Given the description of an element on the screen output the (x, y) to click on. 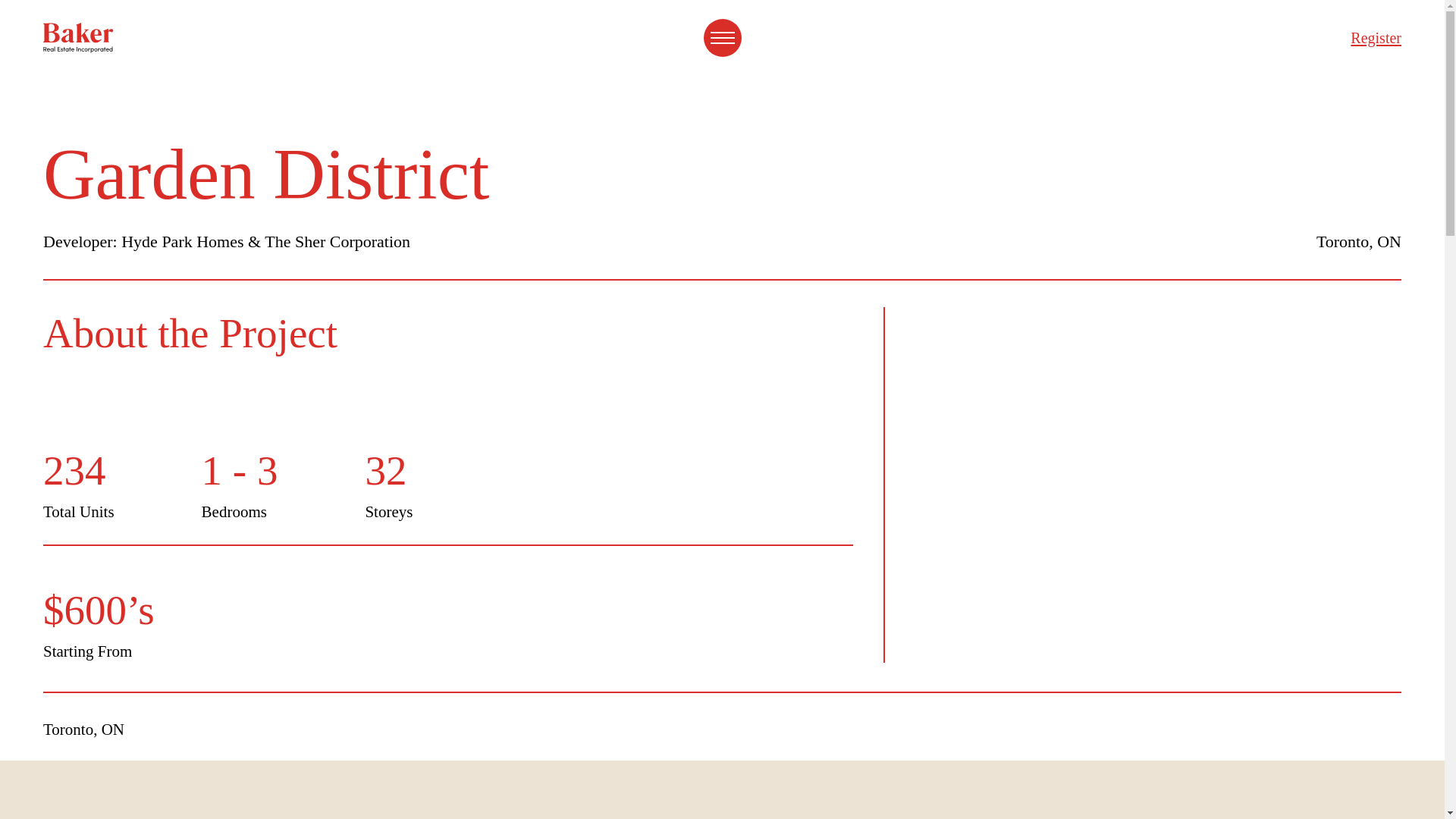
Register (1375, 37)
